Given the description of an element on the screen output the (x, y) to click on. 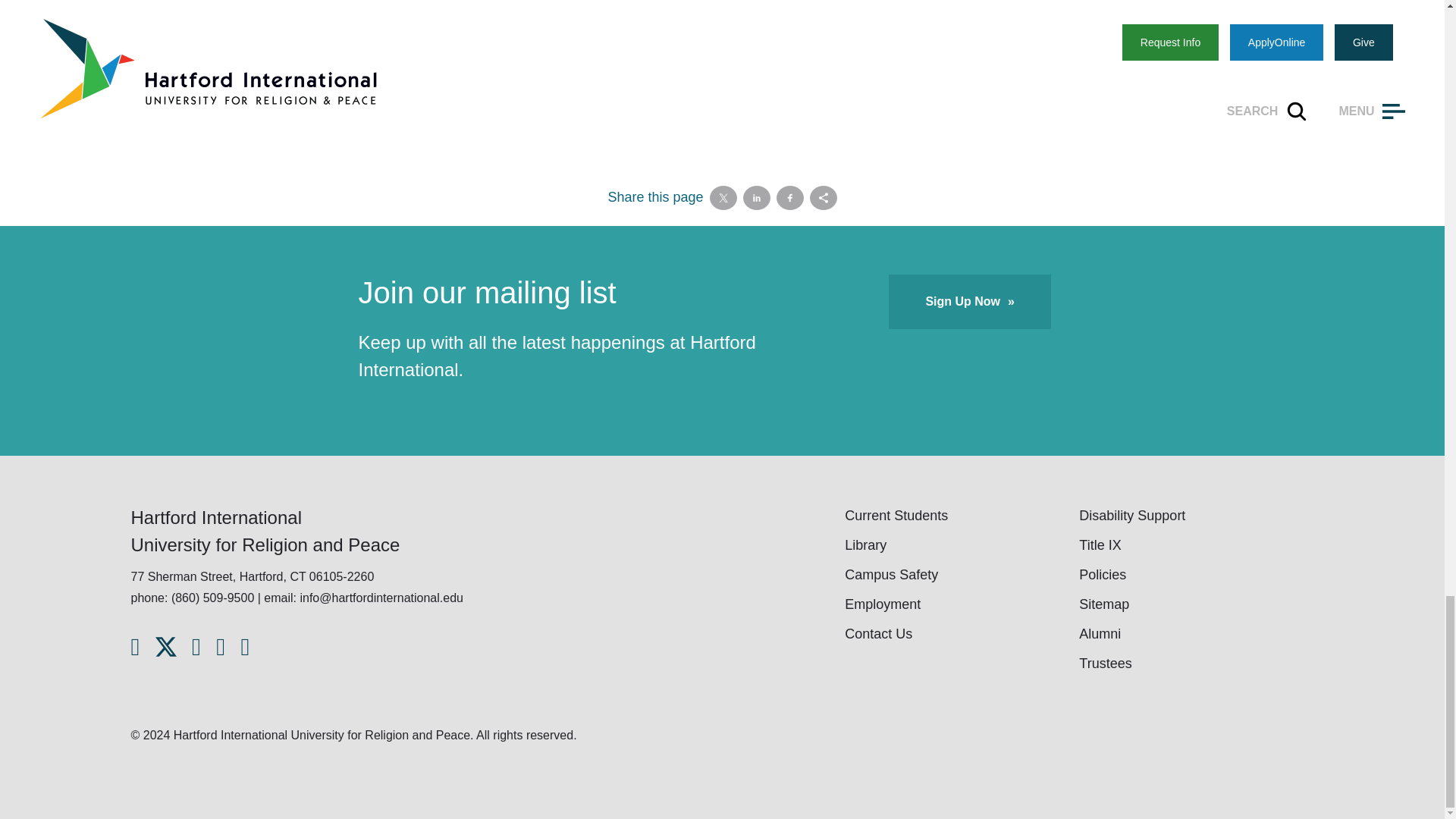
Toll-Free Phone (192, 597)
